Given the description of an element on the screen output the (x, y) to click on. 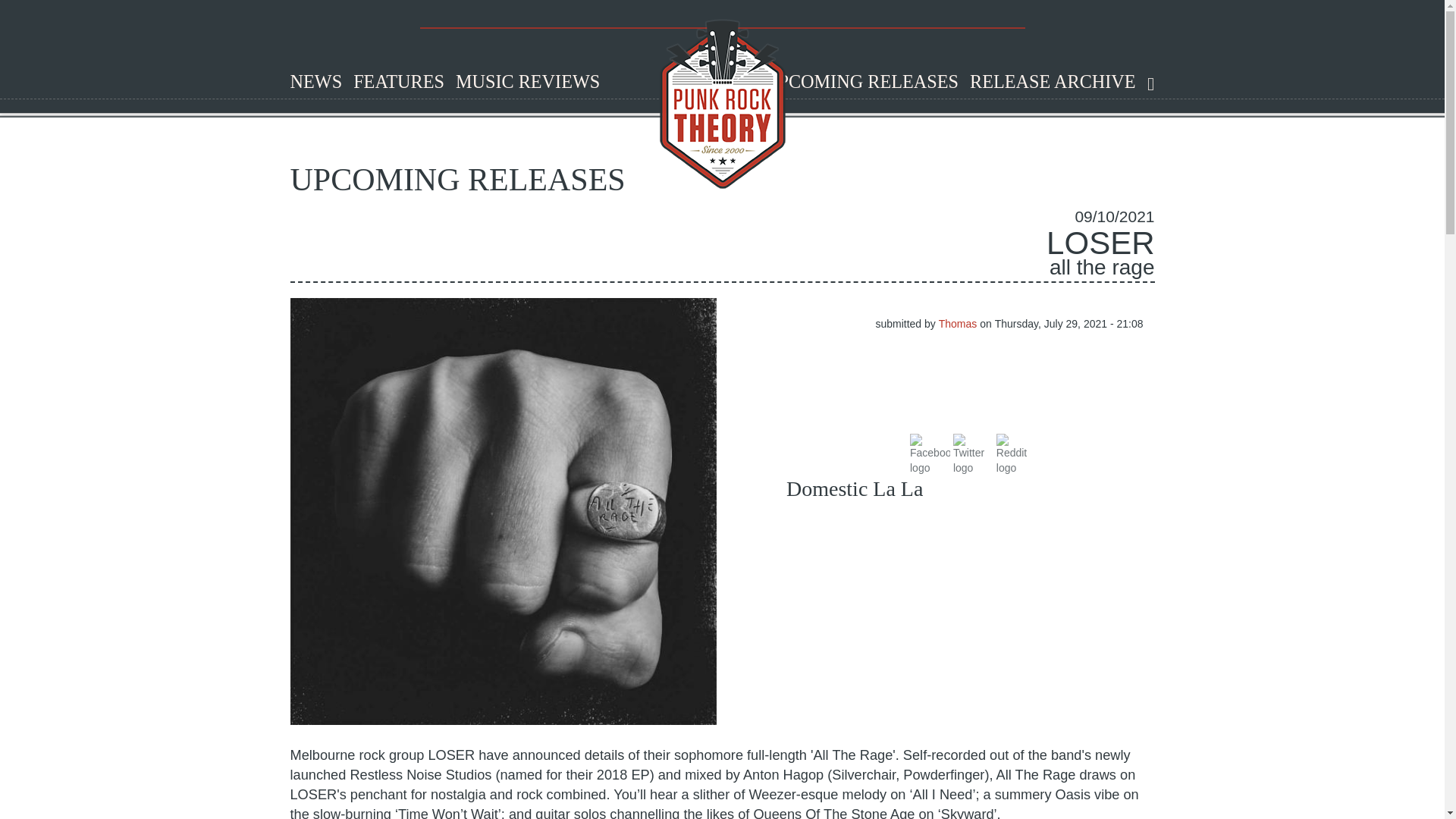
MUSIC REVIEWS (521, 81)
RELEASE ARCHIVE (1046, 81)
Share this on Twitter (972, 452)
FEATURES (393, 81)
Domestic La La (854, 488)
NEWS (310, 81)
Share on Facebook (930, 452)
UPCOMING RELEASES (856, 81)
LOSER (1100, 243)
Submit this post on reddit.com (1015, 452)
